Given the description of an element on the screen output the (x, y) to click on. 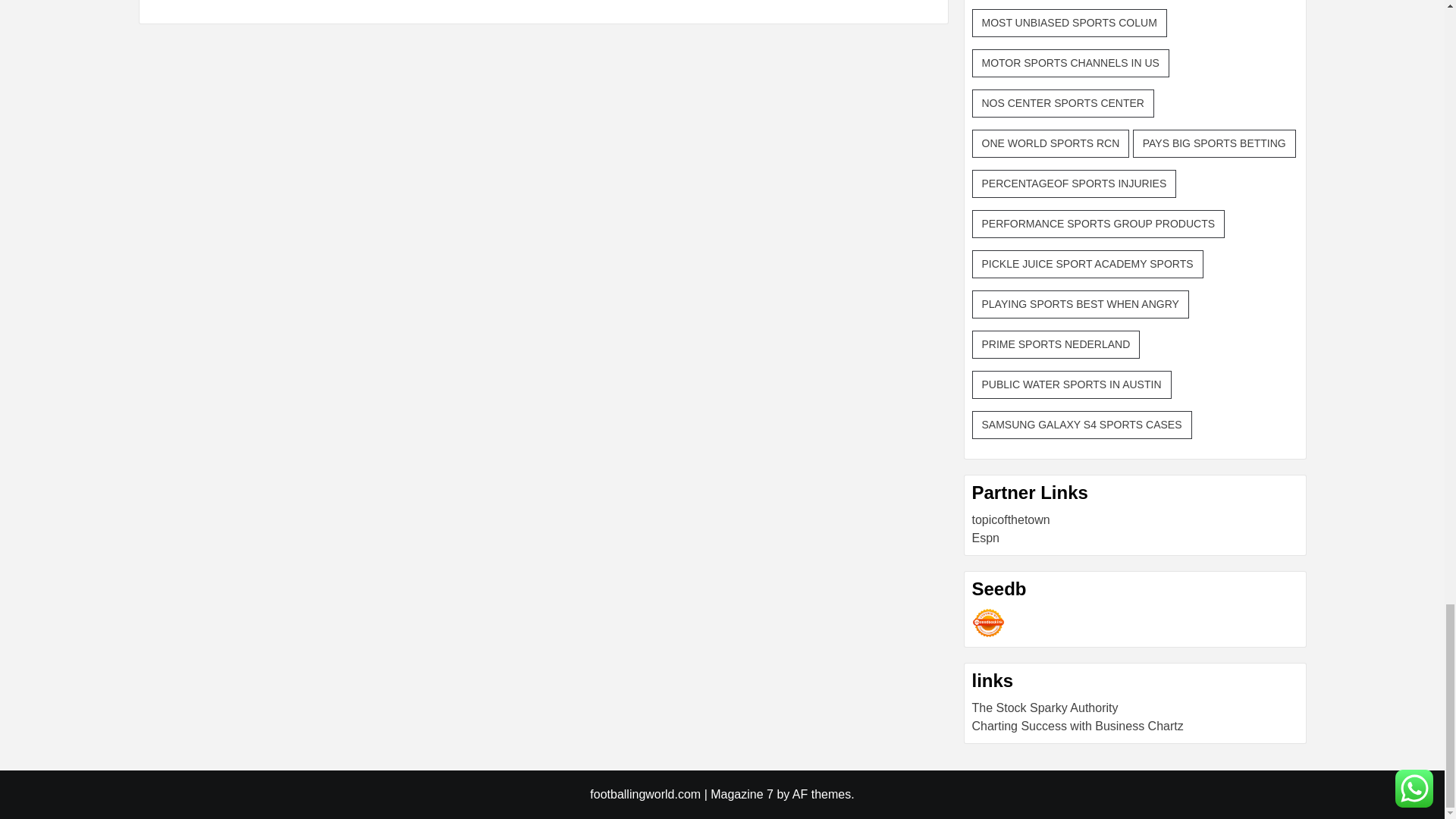
Seedbacklink (988, 622)
